Given the description of an element on the screen output the (x, y) to click on. 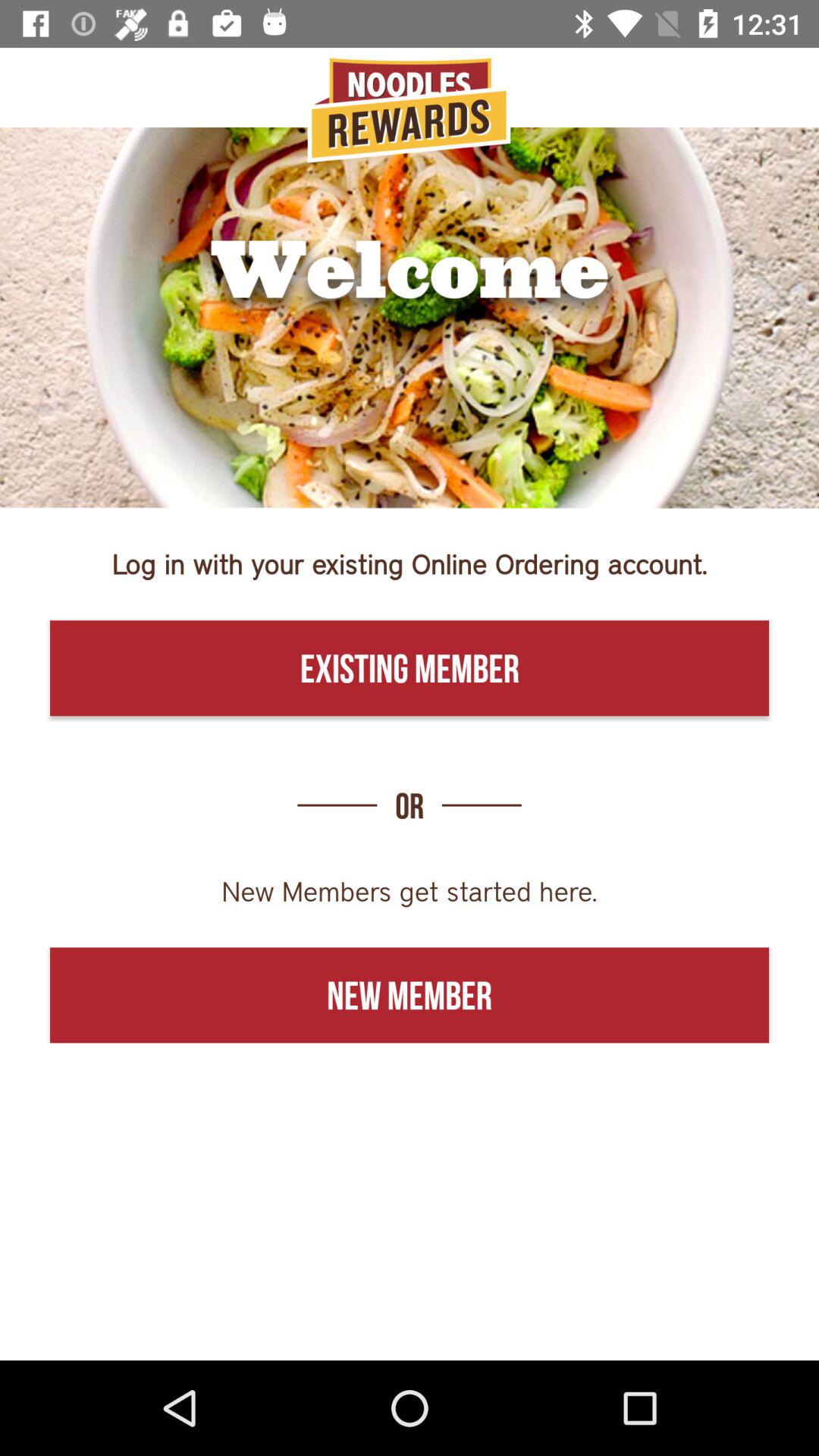
scroll to the existing member (409, 668)
